Given the description of an element on the screen output the (x, y) to click on. 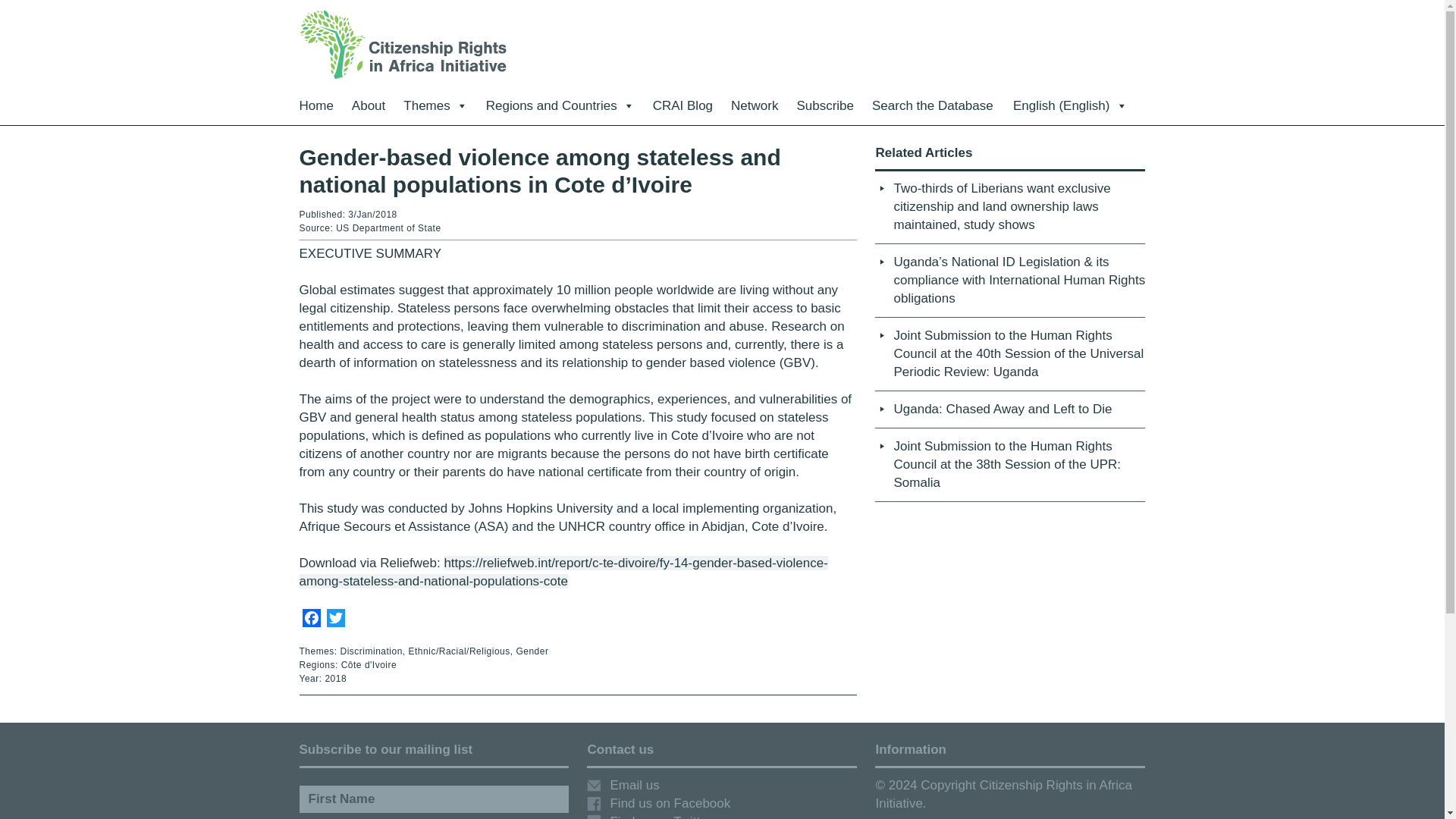
Home (315, 105)
English (1069, 105)
Facebook (310, 620)
About (368, 105)
Themes (435, 105)
Regions and Countries (560, 105)
Twitter (335, 620)
